Given the description of an element on the screen output the (x, y) to click on. 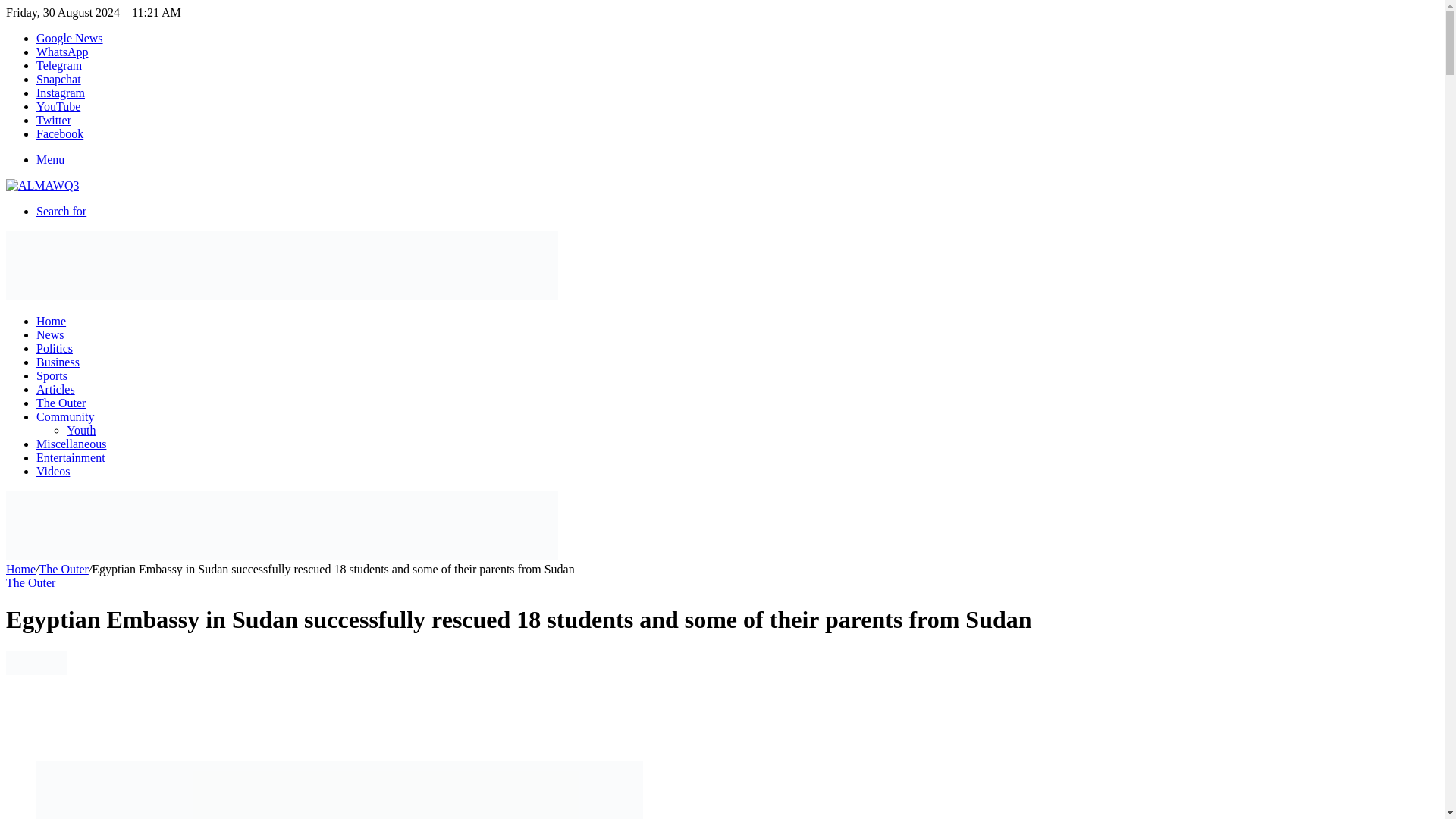
Search for (60, 210)
Home (19, 568)
Politics (54, 348)
Twitter (53, 119)
Instagram (60, 92)
Home (50, 320)
Menu (50, 159)
Community (65, 416)
Business (58, 361)
Telegram (58, 65)
